Given the description of an element on the screen output the (x, y) to click on. 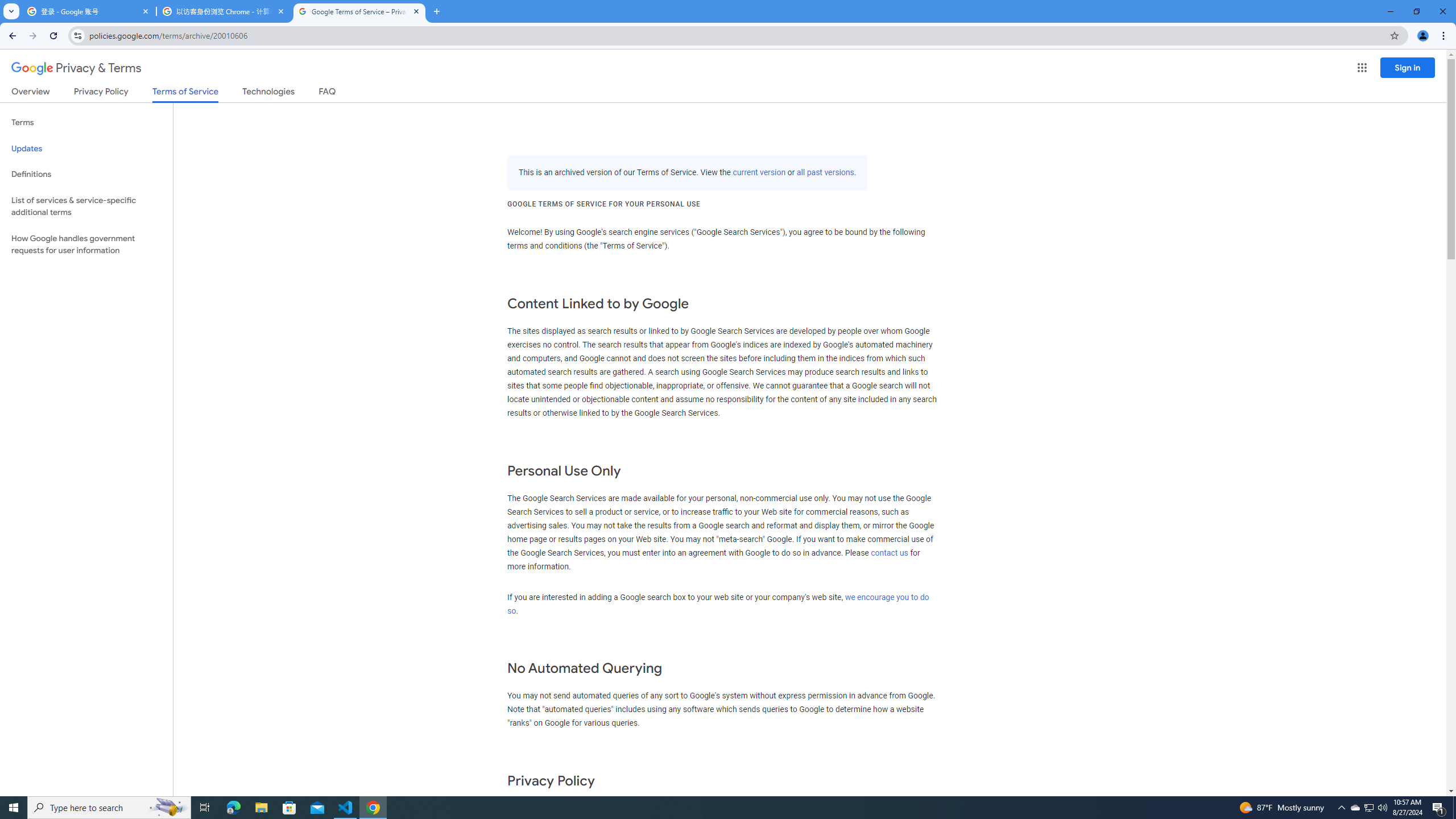
Definitions (86, 174)
